Given the description of an element on the screen output the (x, y) to click on. 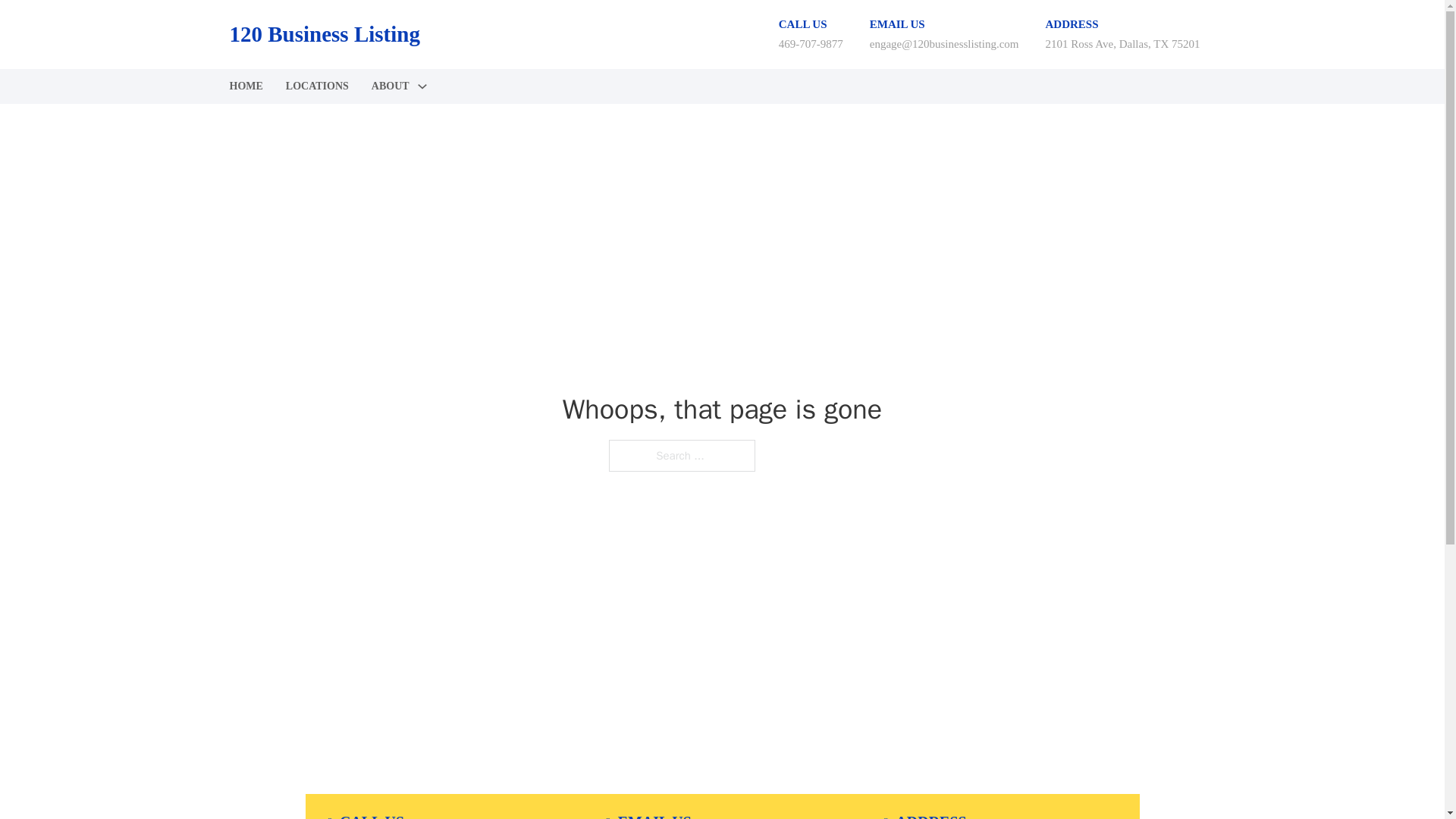
120 Business Listing (323, 34)
LOCATIONS (317, 85)
469-707-9877 (810, 43)
HOME (245, 85)
